Given the description of an element on the screen output the (x, y) to click on. 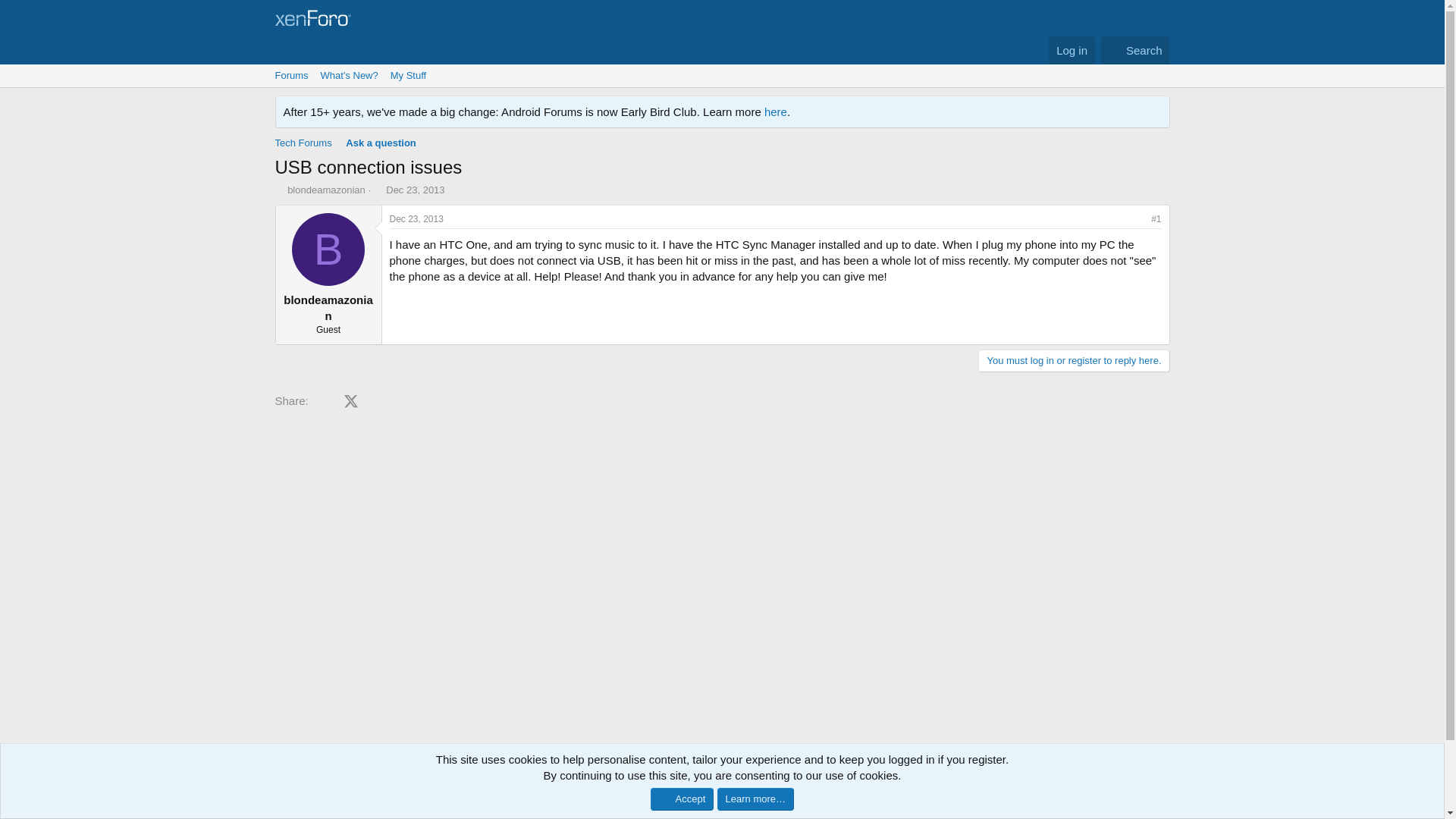
Email (512, 400)
Log in (1071, 50)
My Stuff (414, 75)
Tumblr (458, 400)
Style variation (351, 803)
Reddit (404, 400)
Facebook (324, 400)
here (775, 111)
EB Default (308, 803)
What's New? (349, 75)
